Given the description of an element on the screen output the (x, y) to click on. 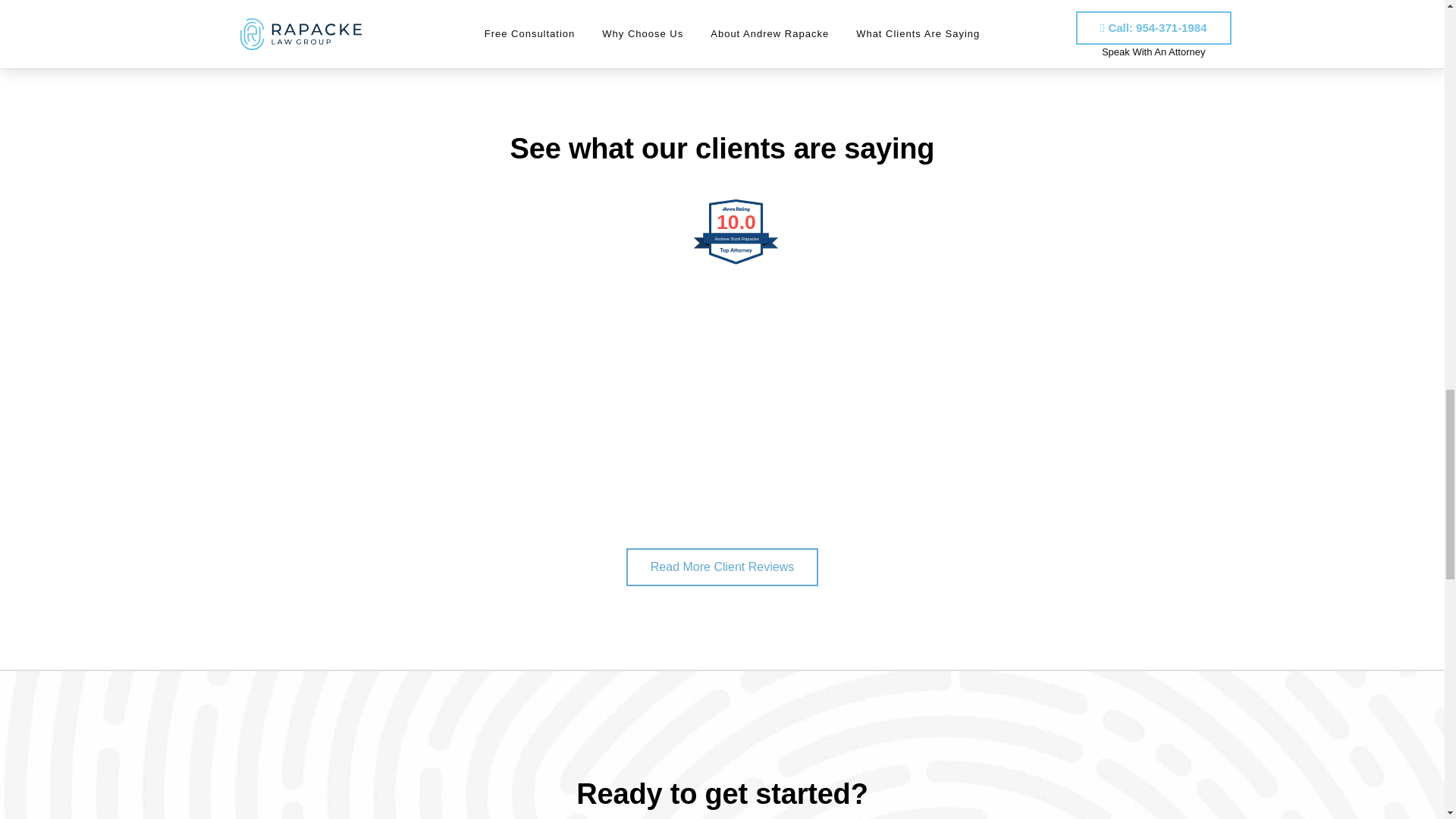
Schedule A Free Consultation (859, 44)
Read More Client Reviews (722, 566)
